Given the description of an element on the screen output the (x, y) to click on. 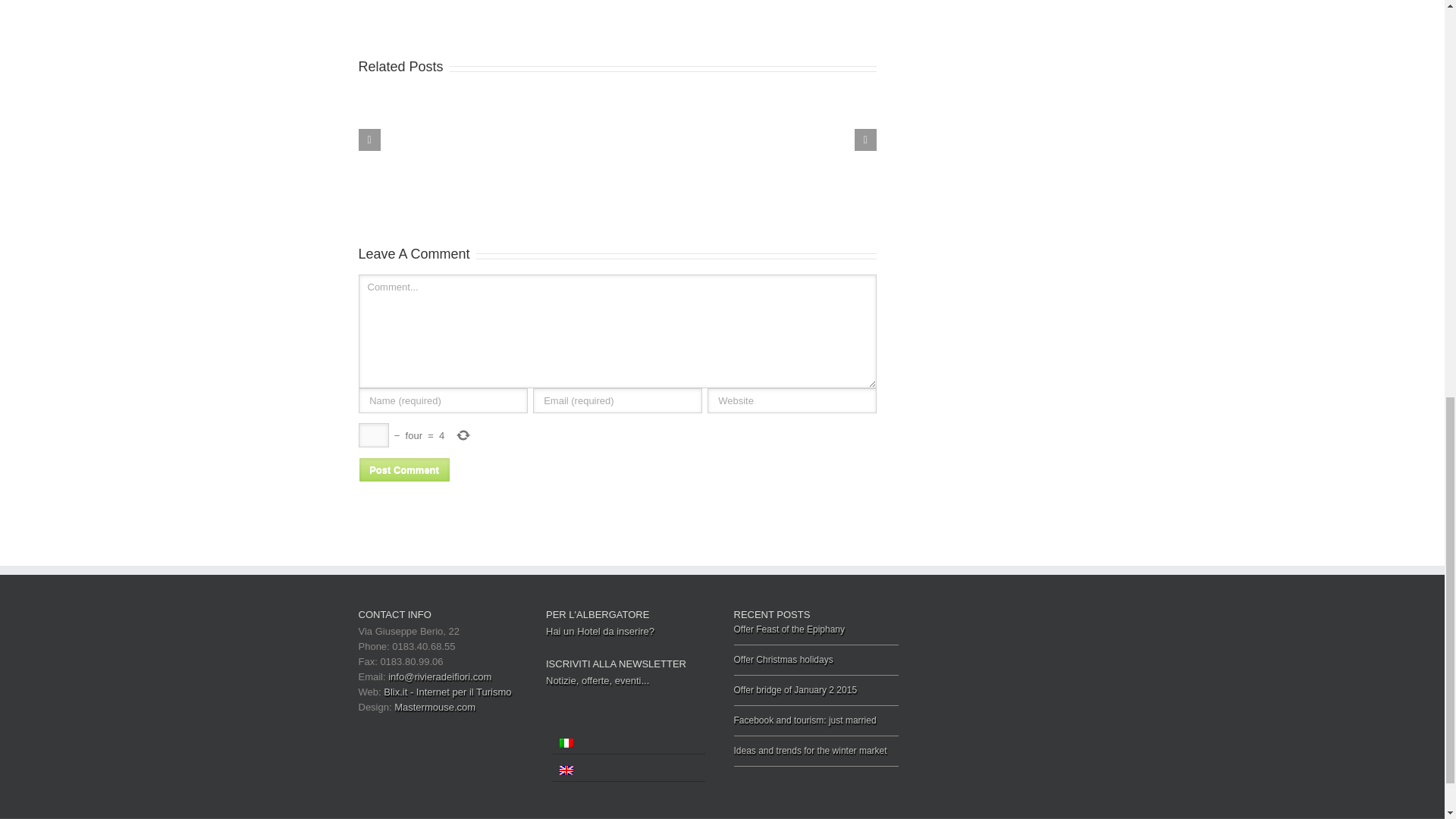
Post Comment (403, 469)
Italiano (566, 742)
